Given the description of an element on the screen output the (x, y) to click on. 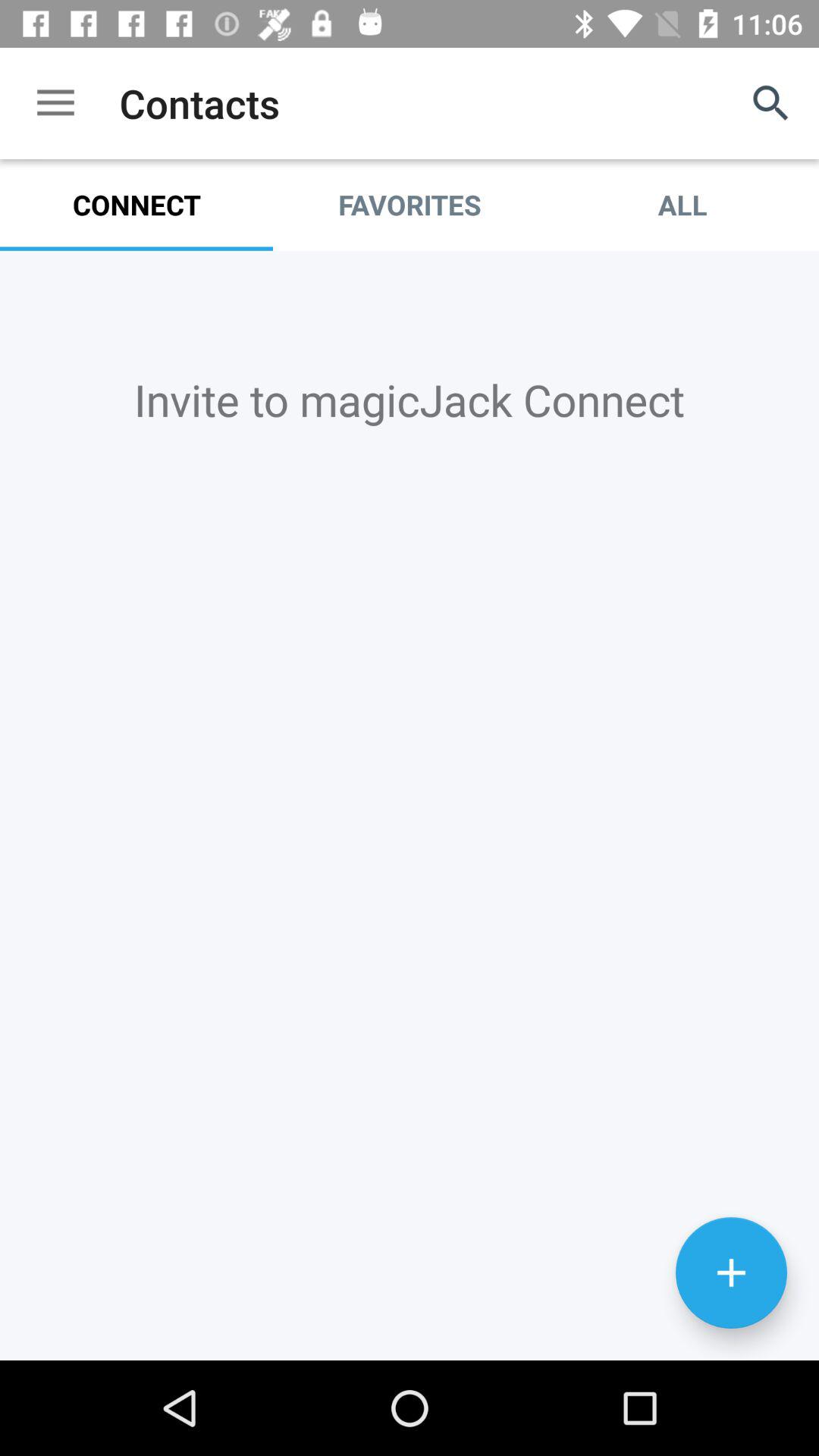
flip until all item (682, 204)
